Given the description of an element on the screen output the (x, y) to click on. 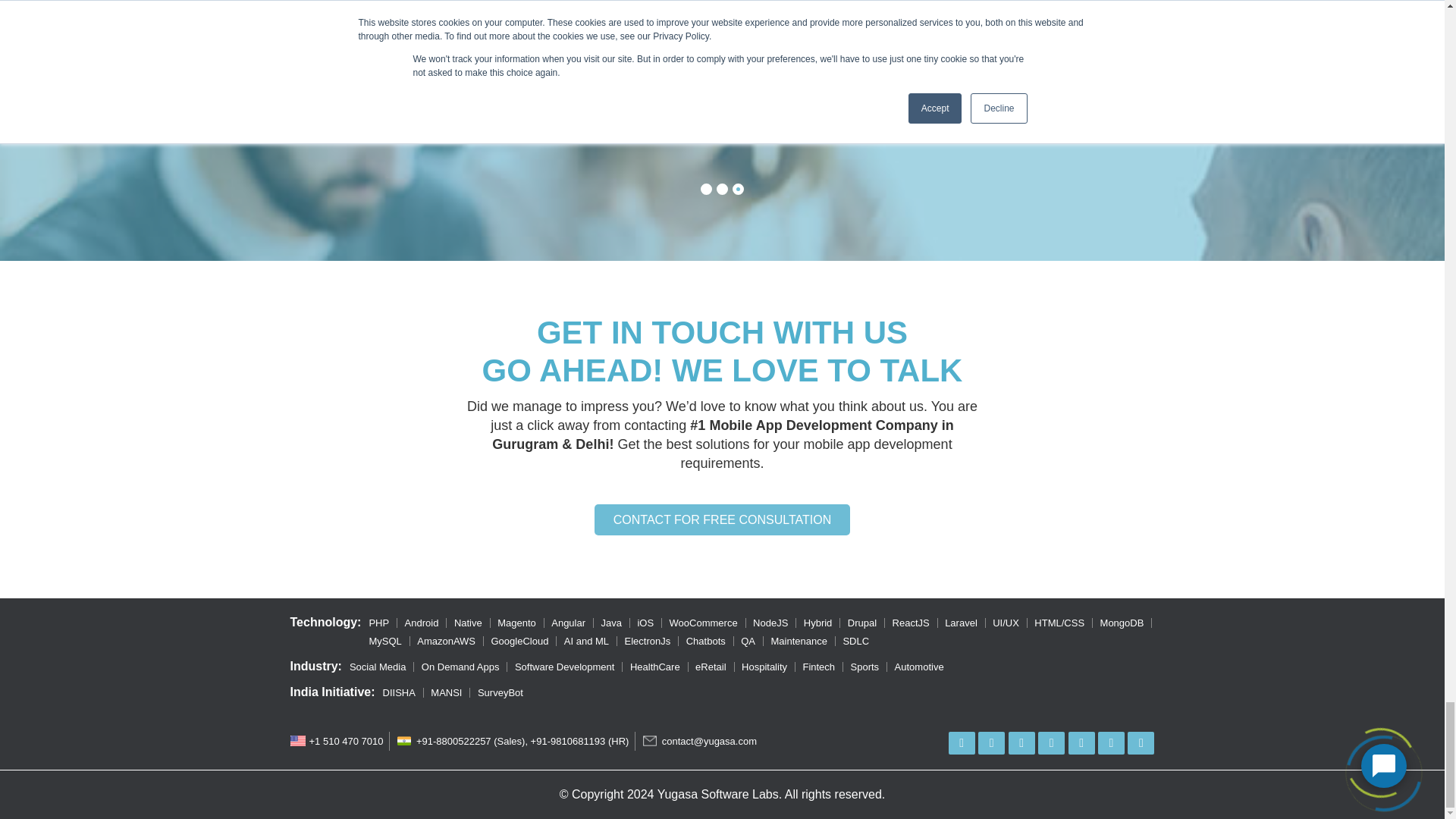
CONTACT FOR FREE CONSULTATION (722, 519)
Yugasa (722, 793)
PHP (378, 622)
Magento (516, 622)
Android (421, 622)
Native (467, 622)
